Given the description of an element on the screen output the (x, y) to click on. 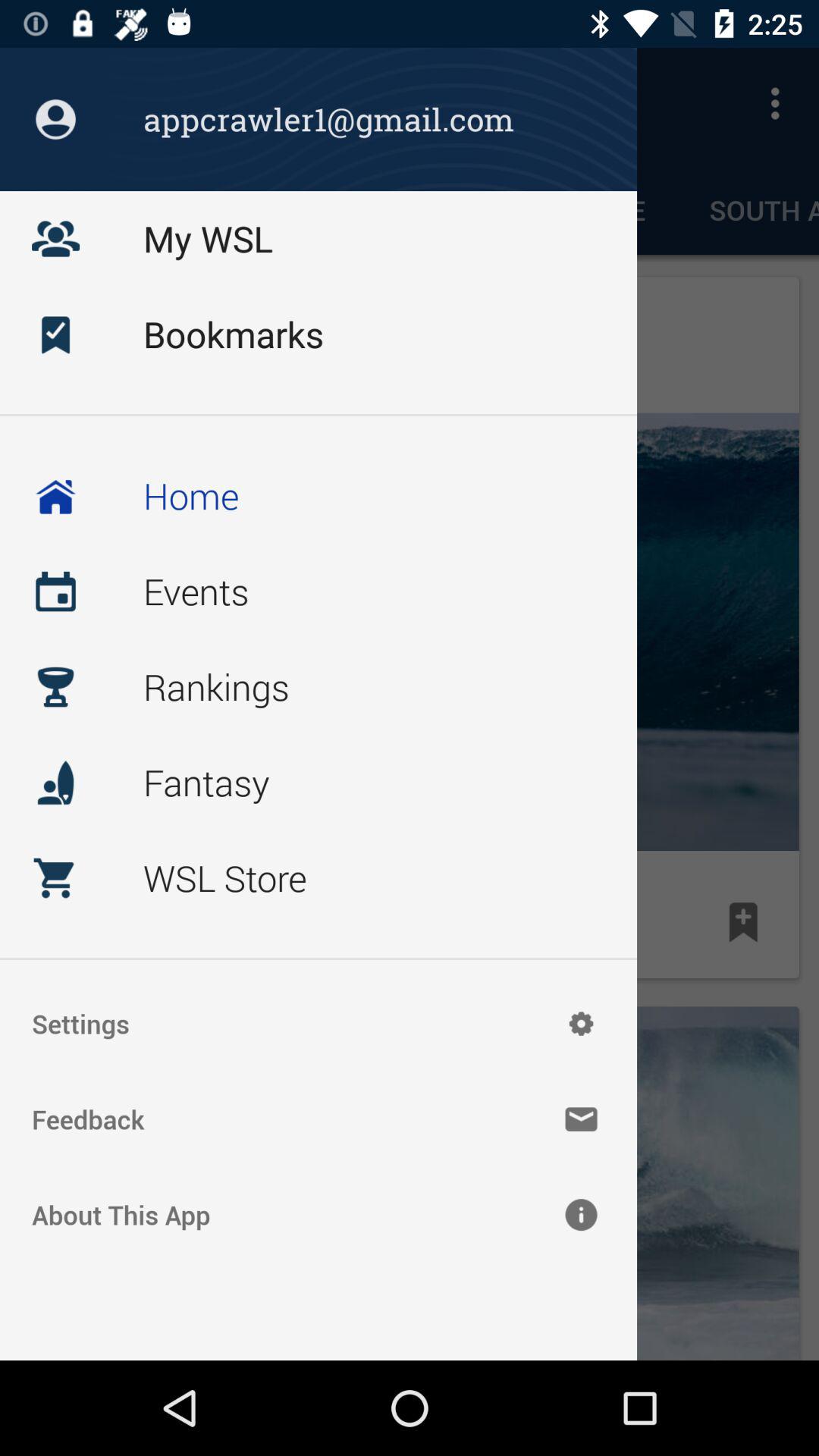
click on icon left to rankings (55, 687)
